Given the description of an element on the screen output the (x, y) to click on. 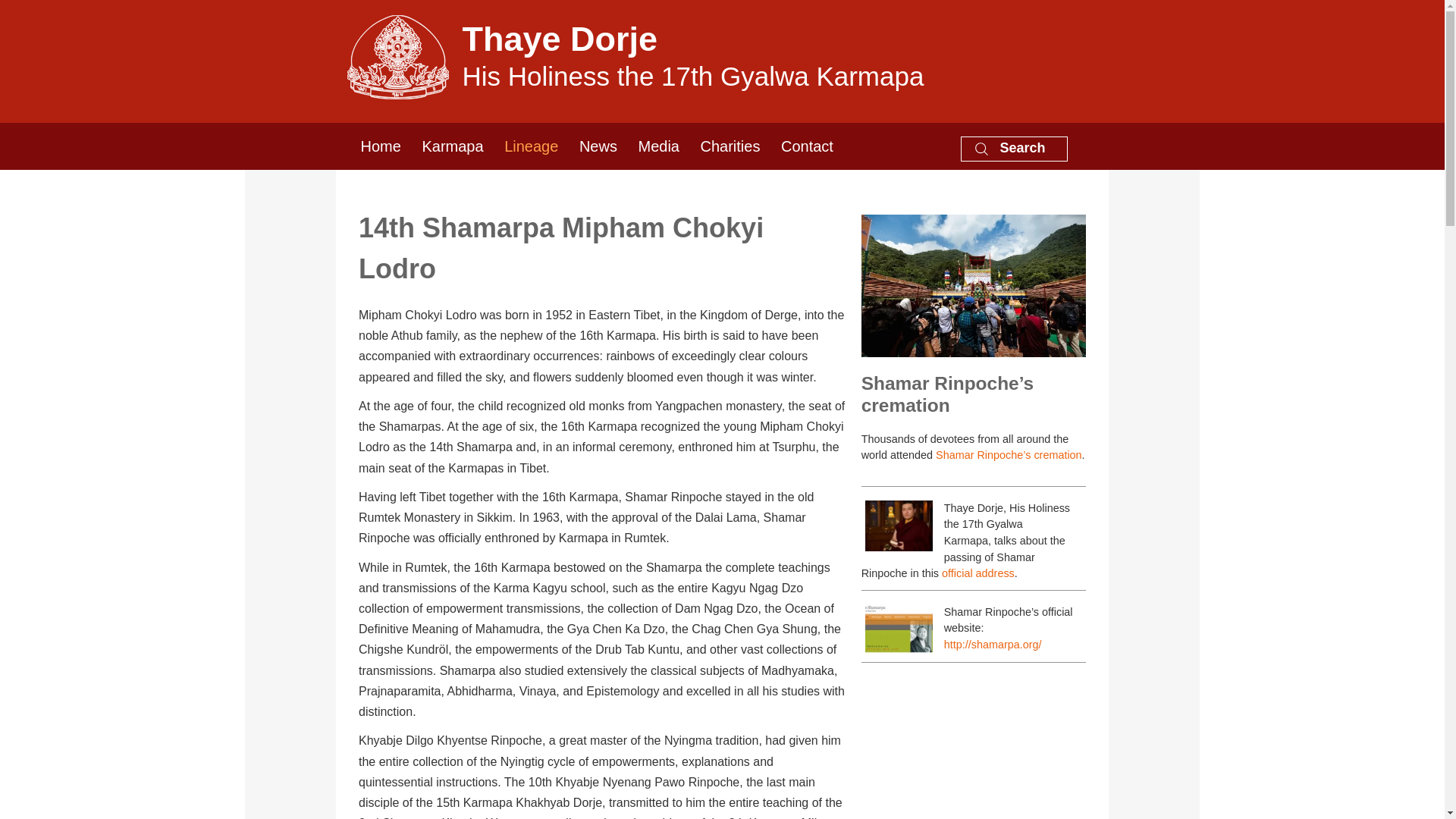
Home (381, 146)
official address (978, 573)
Charities (730, 146)
News (598, 146)
Lineage (530, 146)
Media (657, 146)
Contact His Holiness Karmapa Thaye Dorje (806, 146)
Official website of His Holiness 17th Karmapa Thaye Dorje (381, 146)
News about His Holiness Karmapa Thaye Dorje (598, 146)
Karmapa (452, 146)
SEARCH (844, 454)
Contact (722, 55)
